Given the description of an element on the screen output the (x, y) to click on. 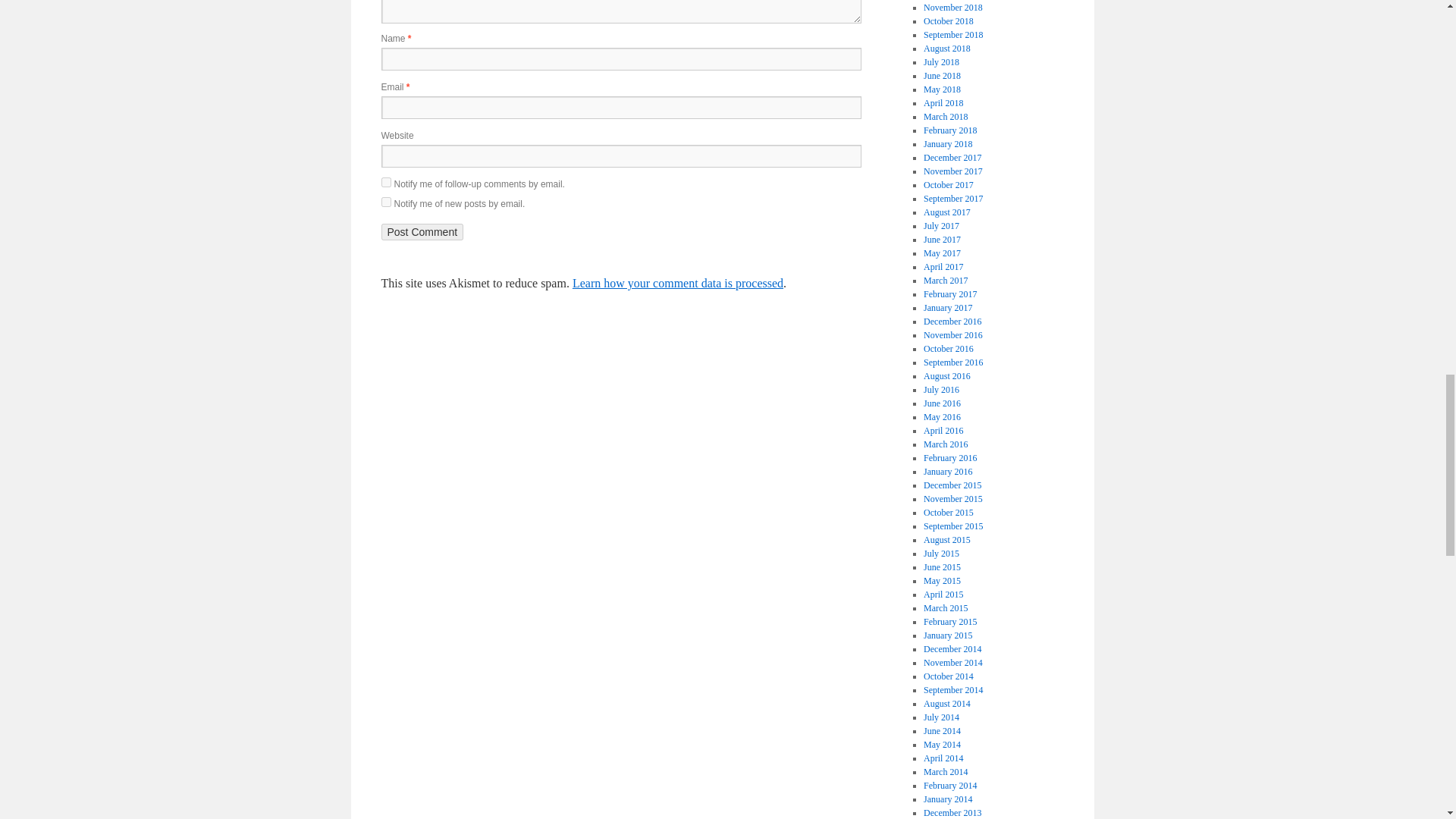
subscribe (385, 182)
subscribe (385, 202)
Post Comment (421, 231)
